Given the description of an element on the screen output the (x, y) to click on. 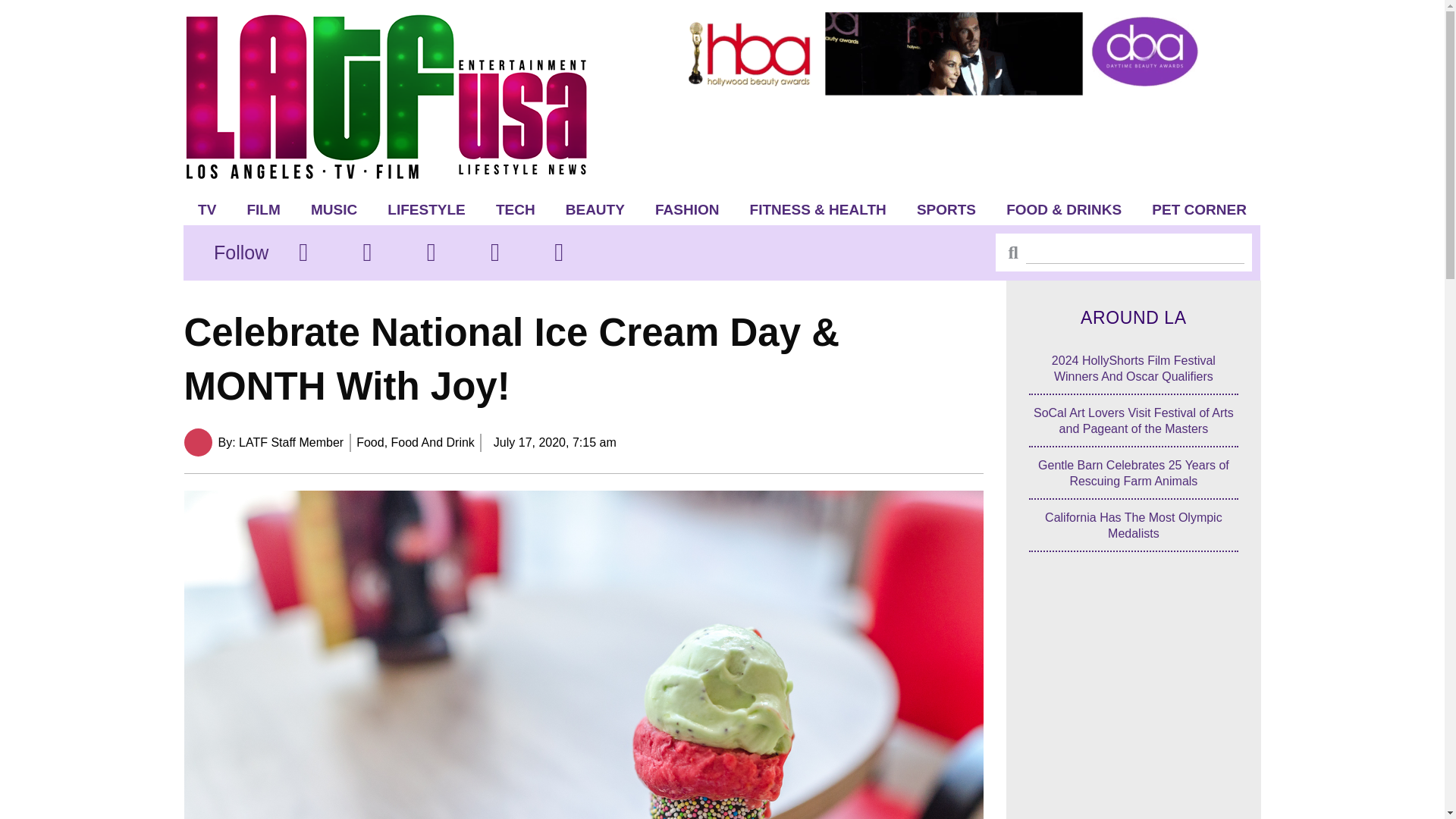
PET CORNER (1199, 209)
MUSIC (333, 209)
SPORTS (946, 209)
FASHION (687, 209)
TECH (515, 209)
BEAUTY (595, 209)
Advertisement (955, 141)
LIFESTYLE (426, 209)
TV (207, 209)
Advertisement (1134, 703)
